Given the description of an element on the screen output the (x, y) to click on. 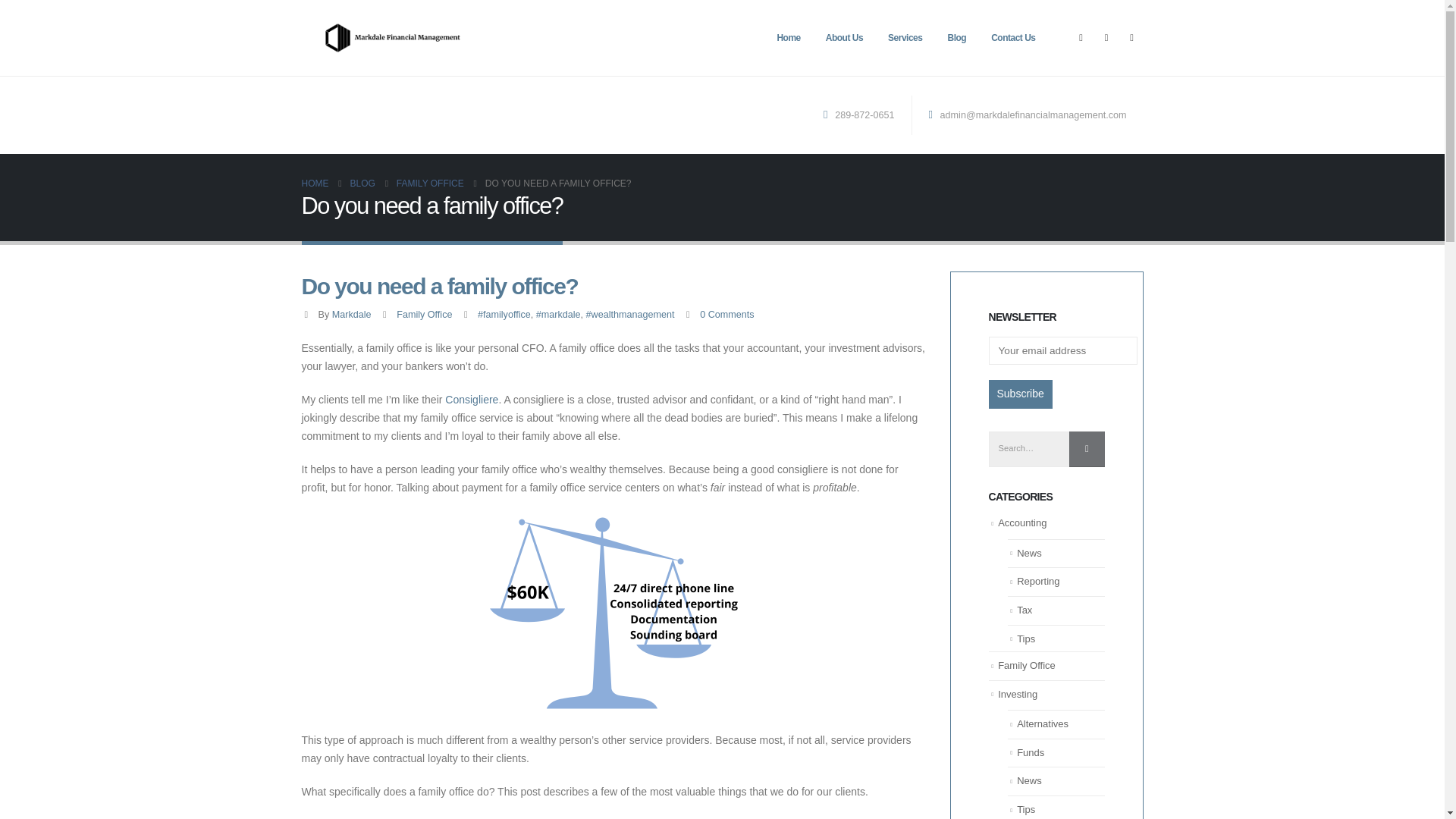
Twitter (1106, 37)
289-872-0651 (862, 114)
Markdale Financial Management  - Family Office (392, 38)
HOME (315, 183)
FAMILY OFFICE (430, 183)
Family Office (1026, 665)
Go to Home Page (315, 183)
Subscribe (1020, 394)
Family Office (423, 314)
Markdale (351, 314)
Tips (1025, 638)
Accounting (1021, 522)
Reporting (1037, 581)
Tax (1024, 609)
News (1029, 552)
